Given the description of an element on the screen output the (x, y) to click on. 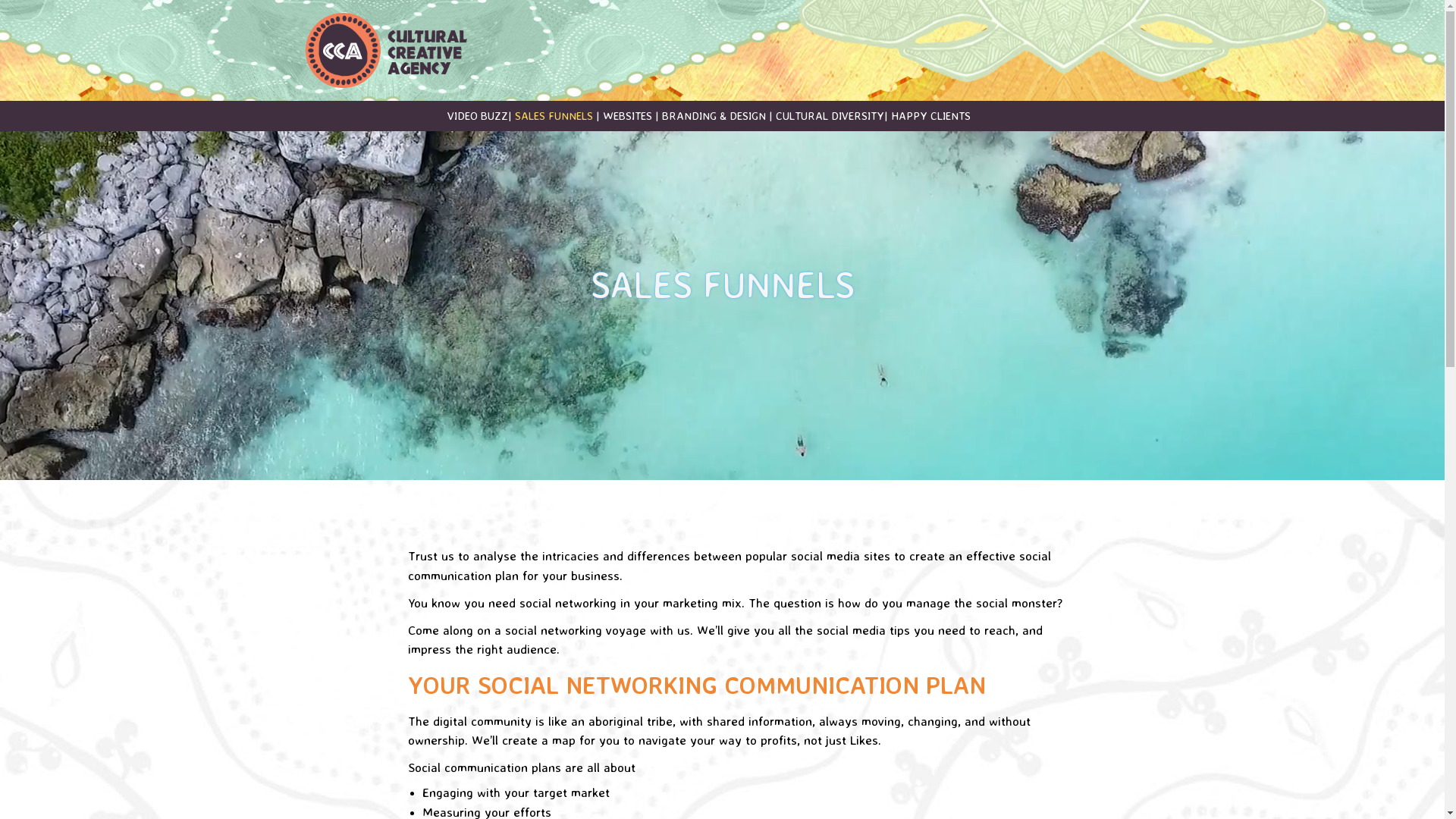
WEBSITES Element type: text (626, 115)
HAPPY CLIENTS Element type: text (929, 115)
BRANDING & DESIGN Element type: text (713, 115)
VIDEO BUZZ Element type: text (477, 115)
SALES FUNNELS Element type: text (553, 115)
CULTURAL DIVERSITY Element type: text (829, 115)
